Given the description of an element on the screen output the (x, y) to click on. 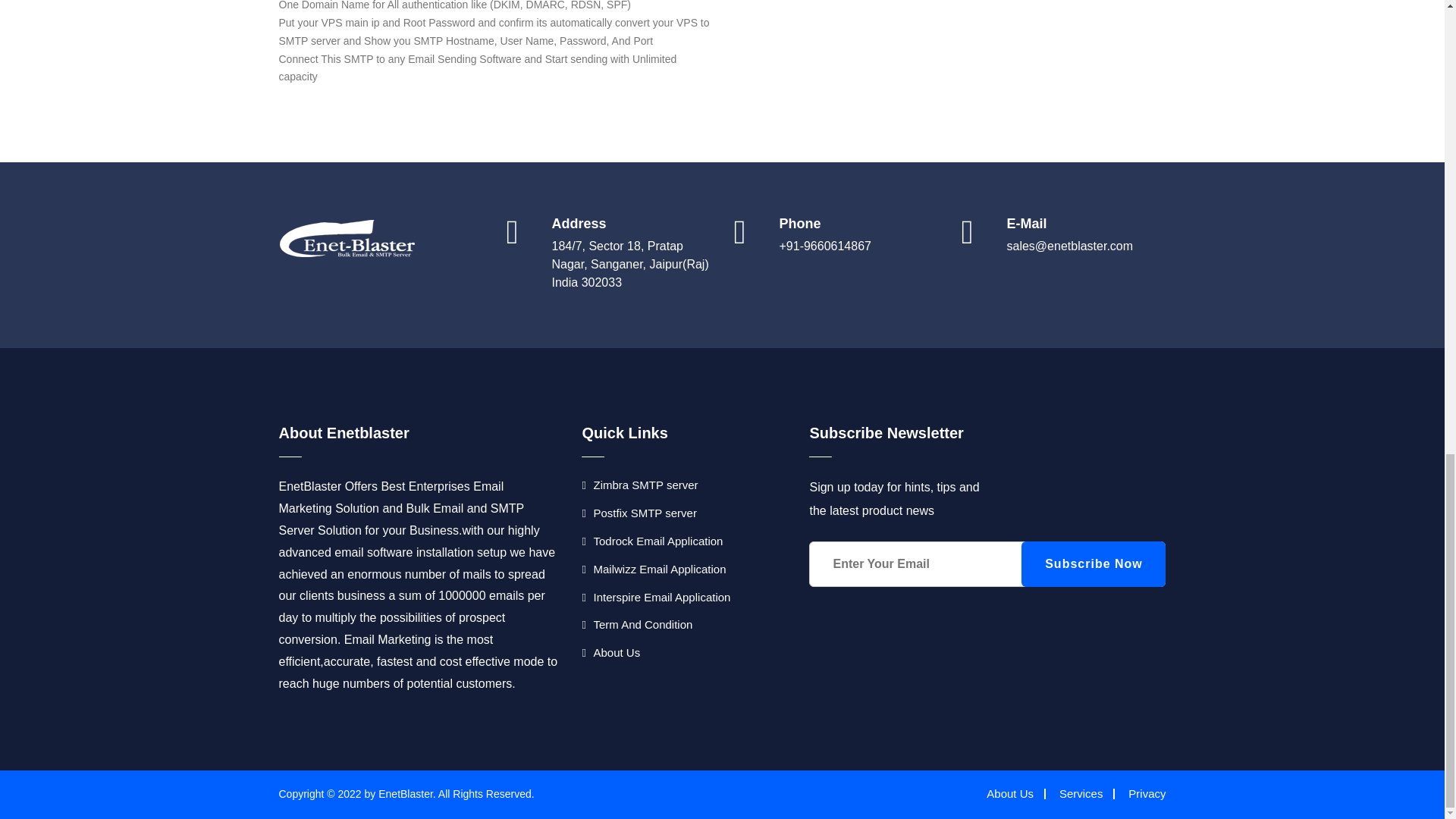
Postfix SMTP server (637, 512)
Todrock Email Application (651, 540)
Zimbra SMTP server (638, 484)
